Given the description of an element on the screen output the (x, y) to click on. 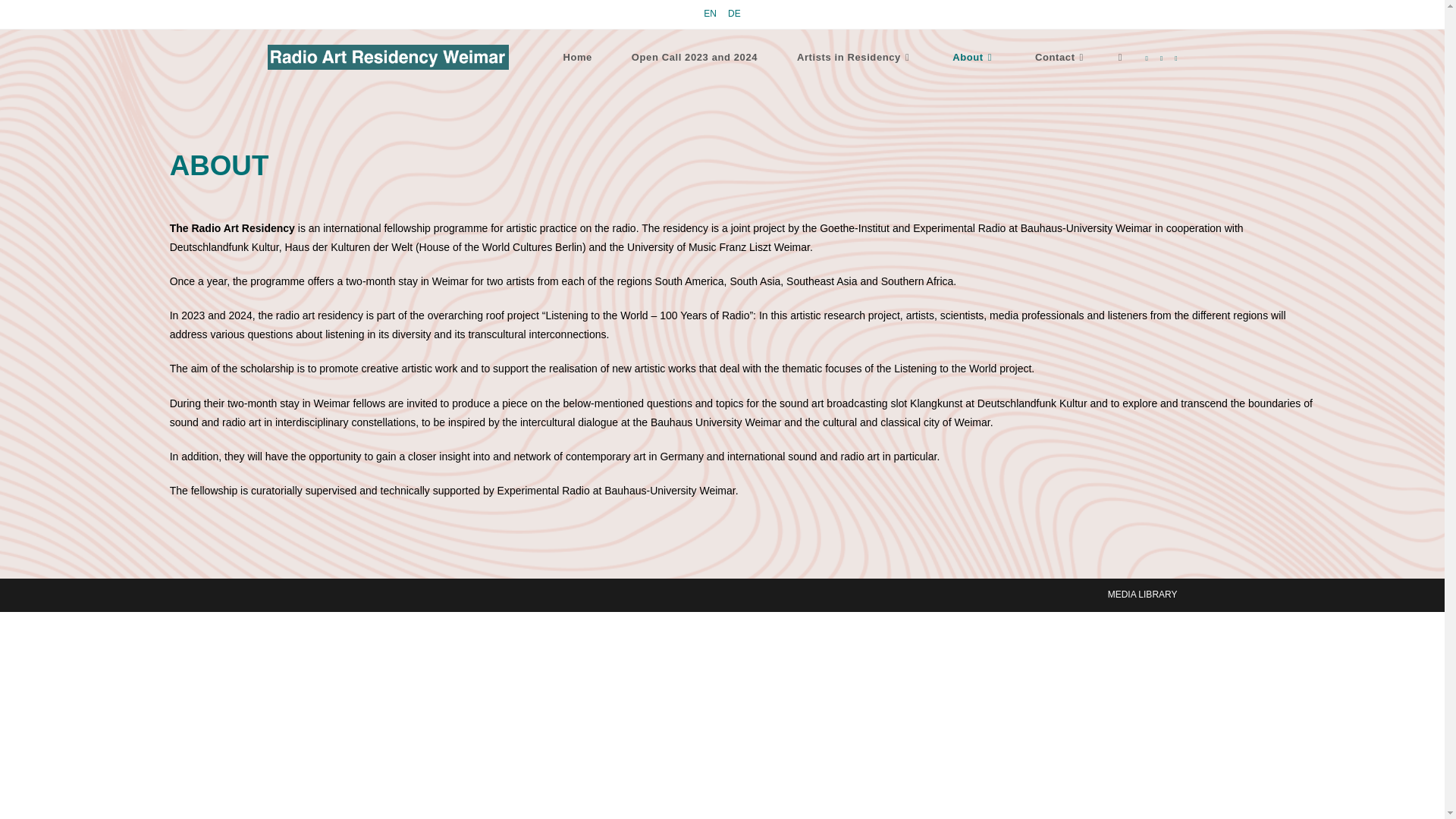
Artists in Residency (855, 57)
Contact (1060, 57)
About (973, 57)
Home (577, 57)
Open Call 2023 and 2024 (694, 57)
MEDIA LIBRARY (1142, 593)
